Given the description of an element on the screen output the (x, y) to click on. 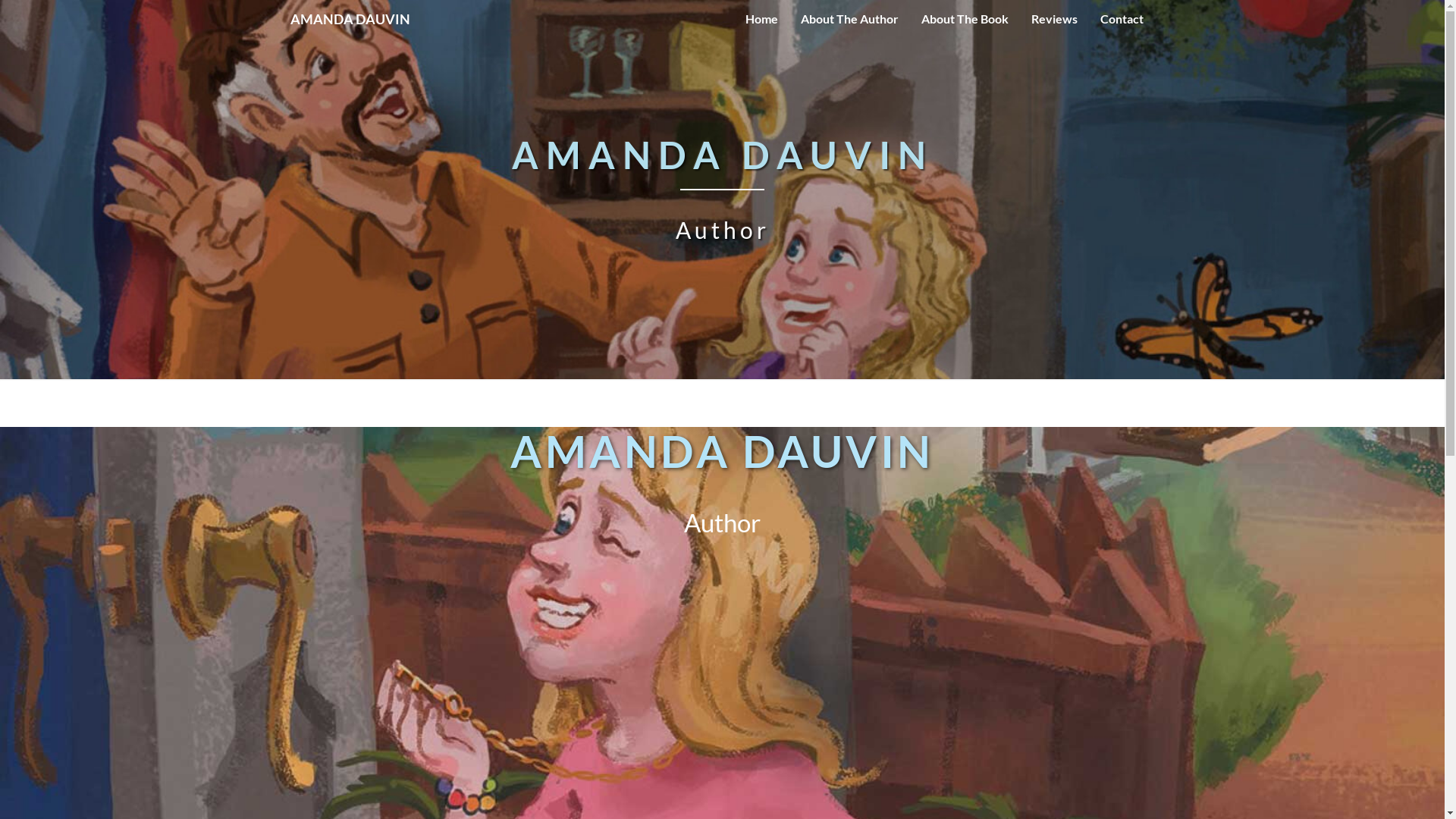
Home Element type: text (761, 18)
Contact Element type: text (1121, 18)
About The Book Element type: text (964, 18)
Reviews Element type: text (1053, 18)
About The Author Element type: text (848, 18)
AMANDA DAUVIN Author Element type: text (721, 200)
